Given the description of an element on the screen output the (x, y) to click on. 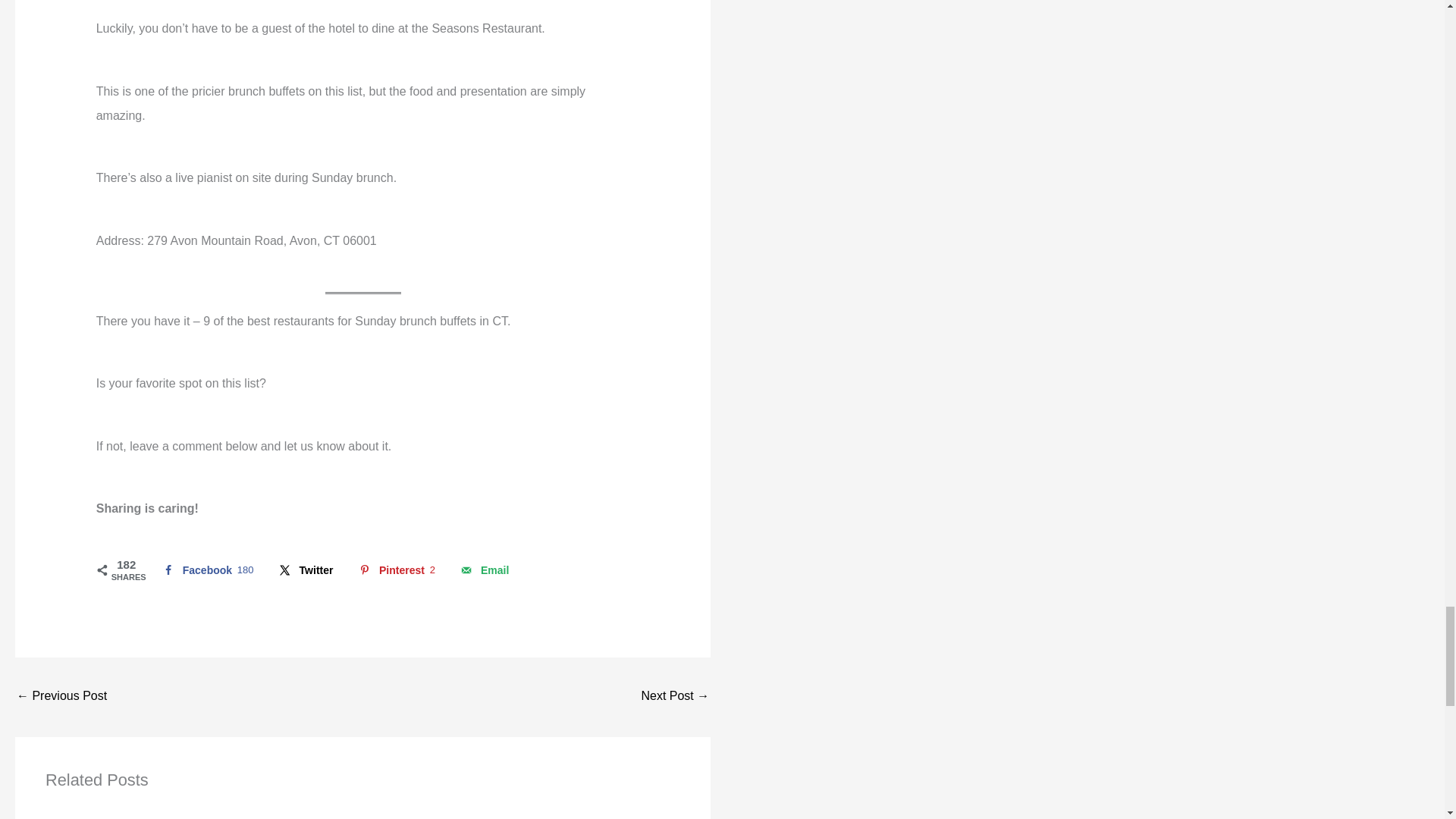
9 Places with the Best Desserts in CT (61, 697)
Email (483, 570)
Share on Facebook (206, 570)
Send over email (483, 570)
Save to Pinterest (395, 570)
Twitter (206, 570)
Share on X (395, 570)
The 9 Best Restaurants near Lake Compounce for 2024 (304, 570)
